Given the description of an element on the screen output the (x, y) to click on. 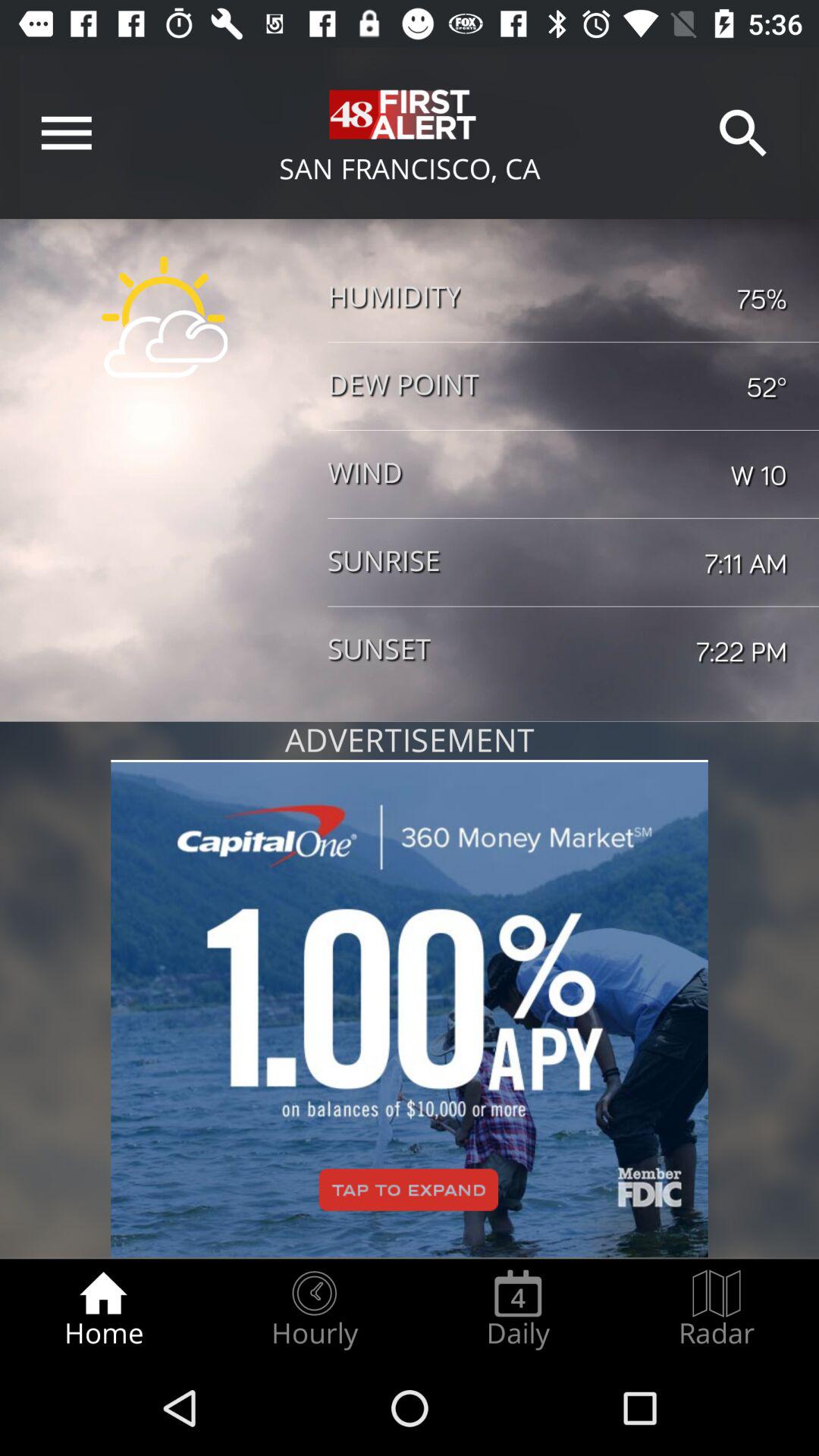
open radio button to the left of hourly (103, 1309)
